Given the description of an element on the screen output the (x, y) to click on. 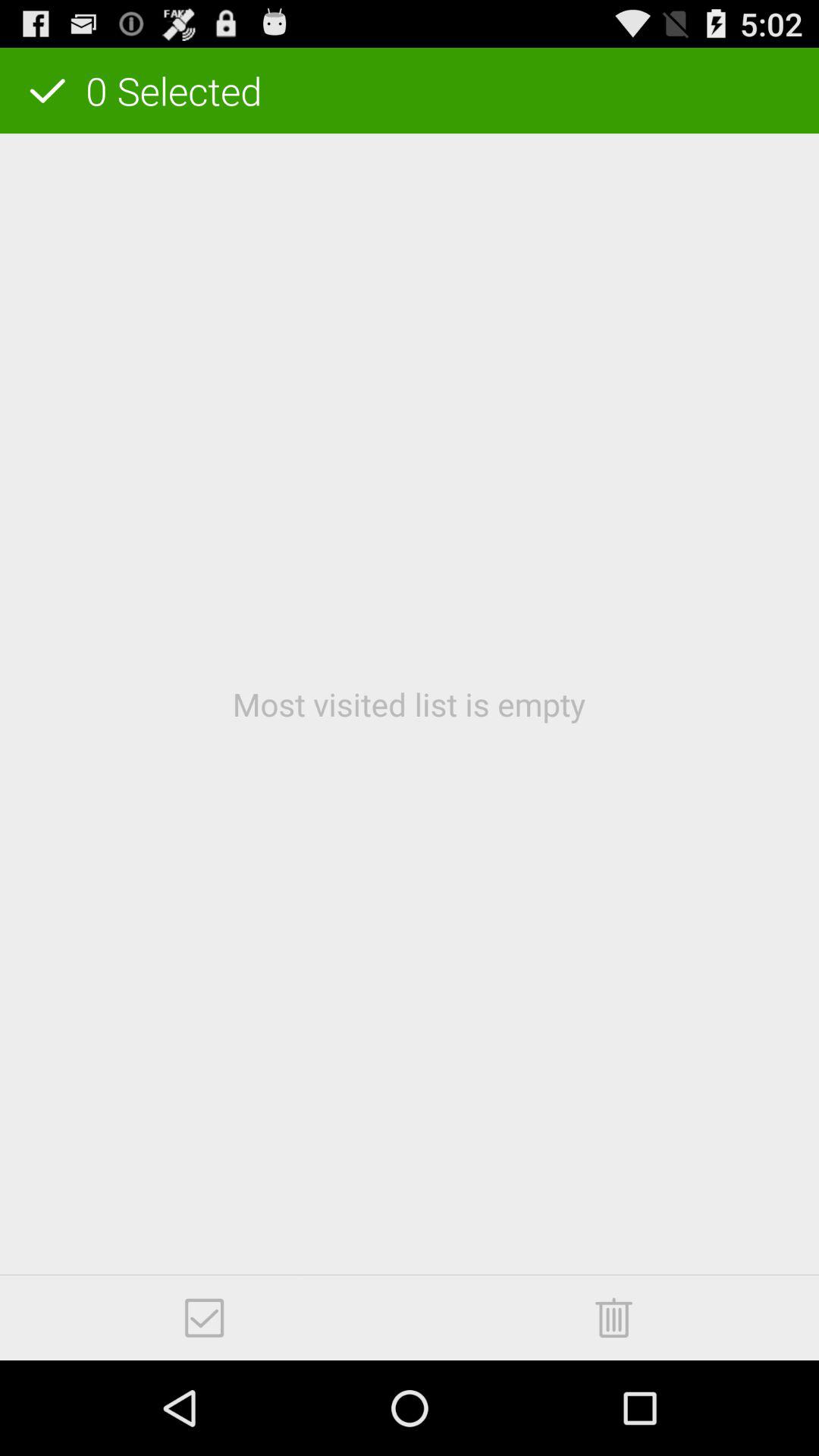
turn off icon at the bottom left corner (204, 1317)
